Given the description of an element on the screen output the (x, y) to click on. 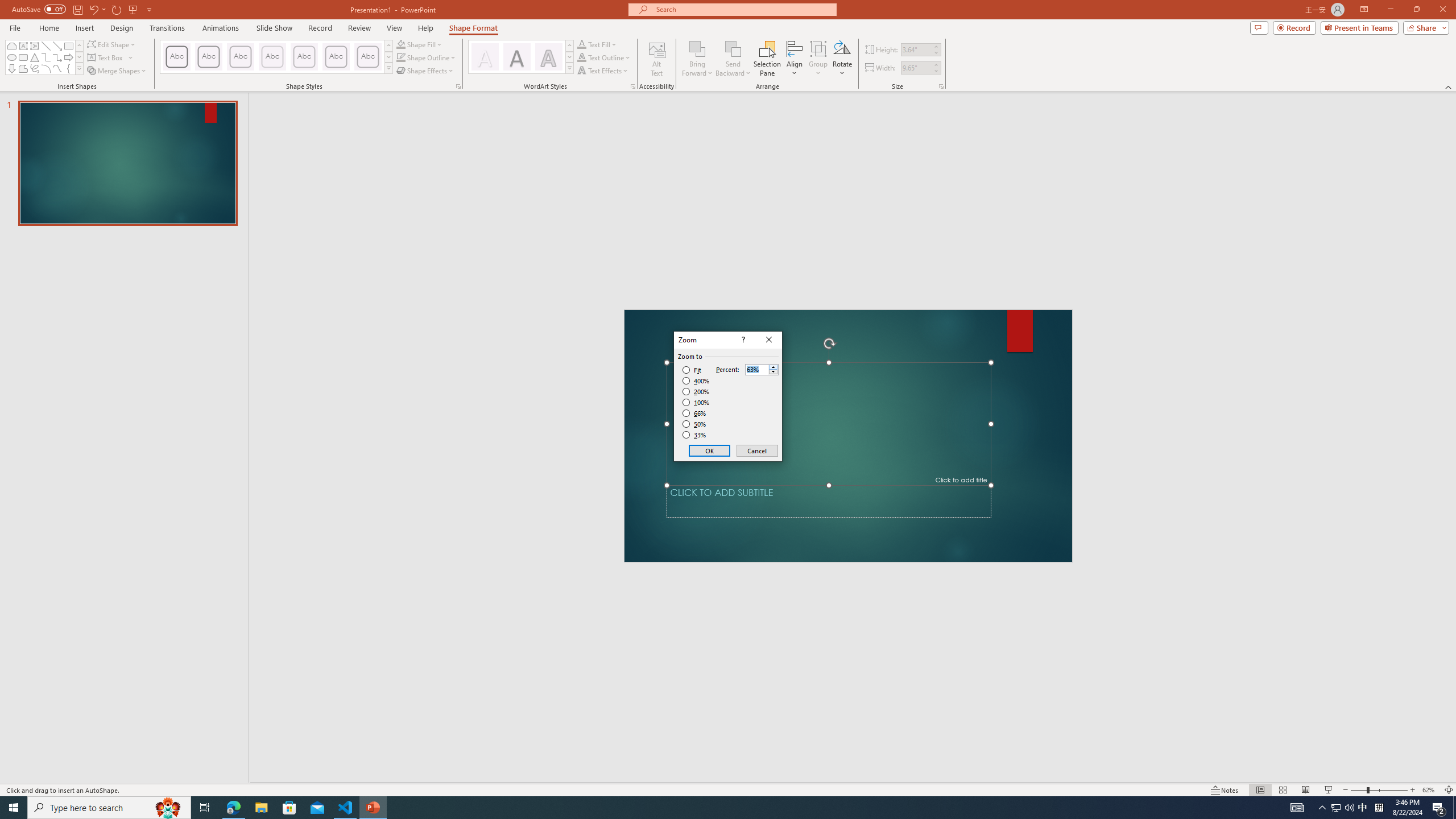
Text Outline RGB(0, 0, 0) (581, 56)
Cancel (756, 450)
Fit (691, 370)
33% (694, 434)
Subtitle TextBox (828, 500)
